Given the description of an element on the screen output the (x, y) to click on. 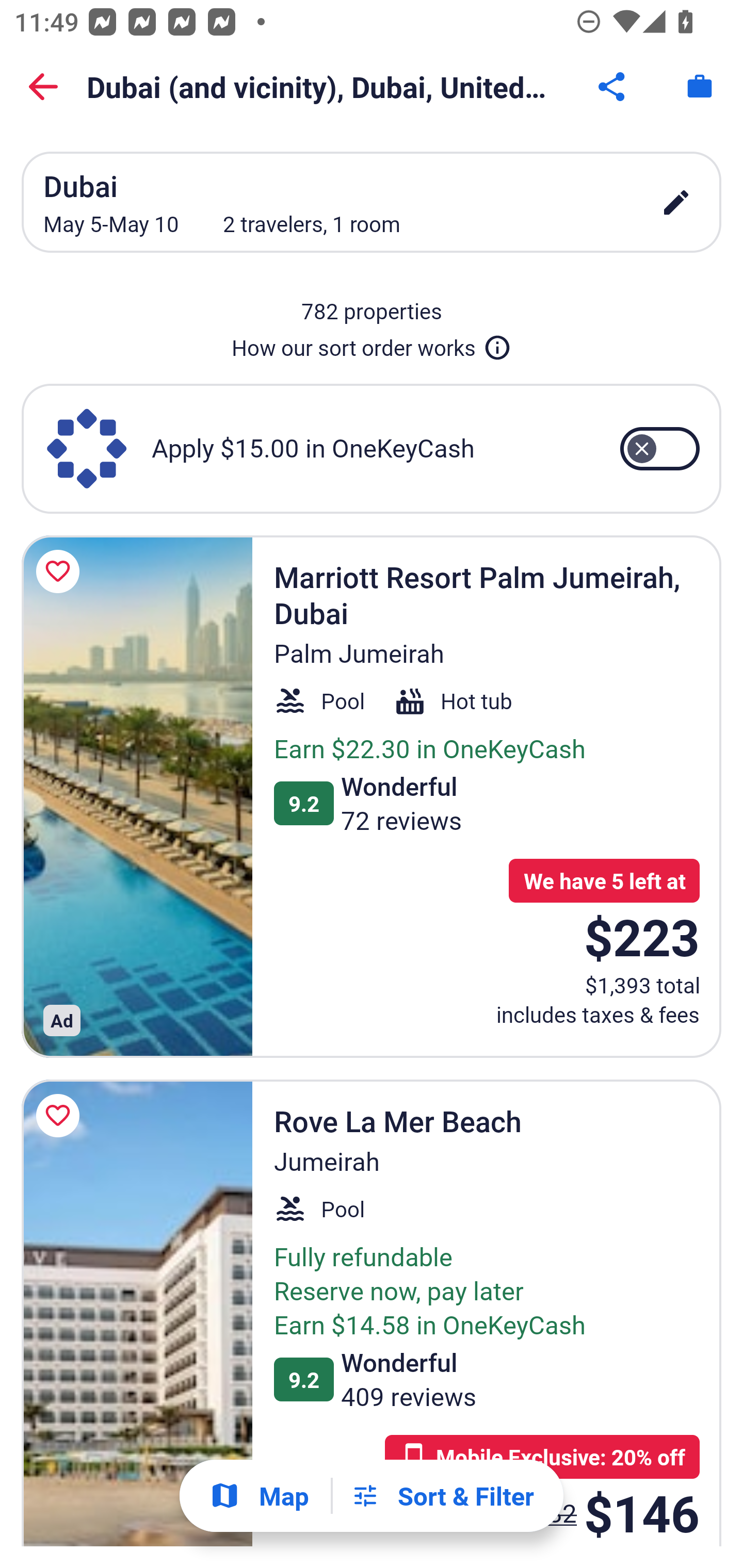
Back (43, 86)
Share Button (612, 86)
Trips. Button (699, 86)
Dubai May 5-May 10 2 travelers, 1 room edit (371, 202)
How our sort order works (371, 344)
Marriott Resort Palm Jumeirah, Dubai (136, 796)
Save Rove La Mer Beach to a trip (61, 1115)
Rove La Mer Beach (136, 1312)
Filters Sort & Filter Filters Button (442, 1495)
Show map Map Show map Button (258, 1495)
